Given the description of an element on the screen output the (x, y) to click on. 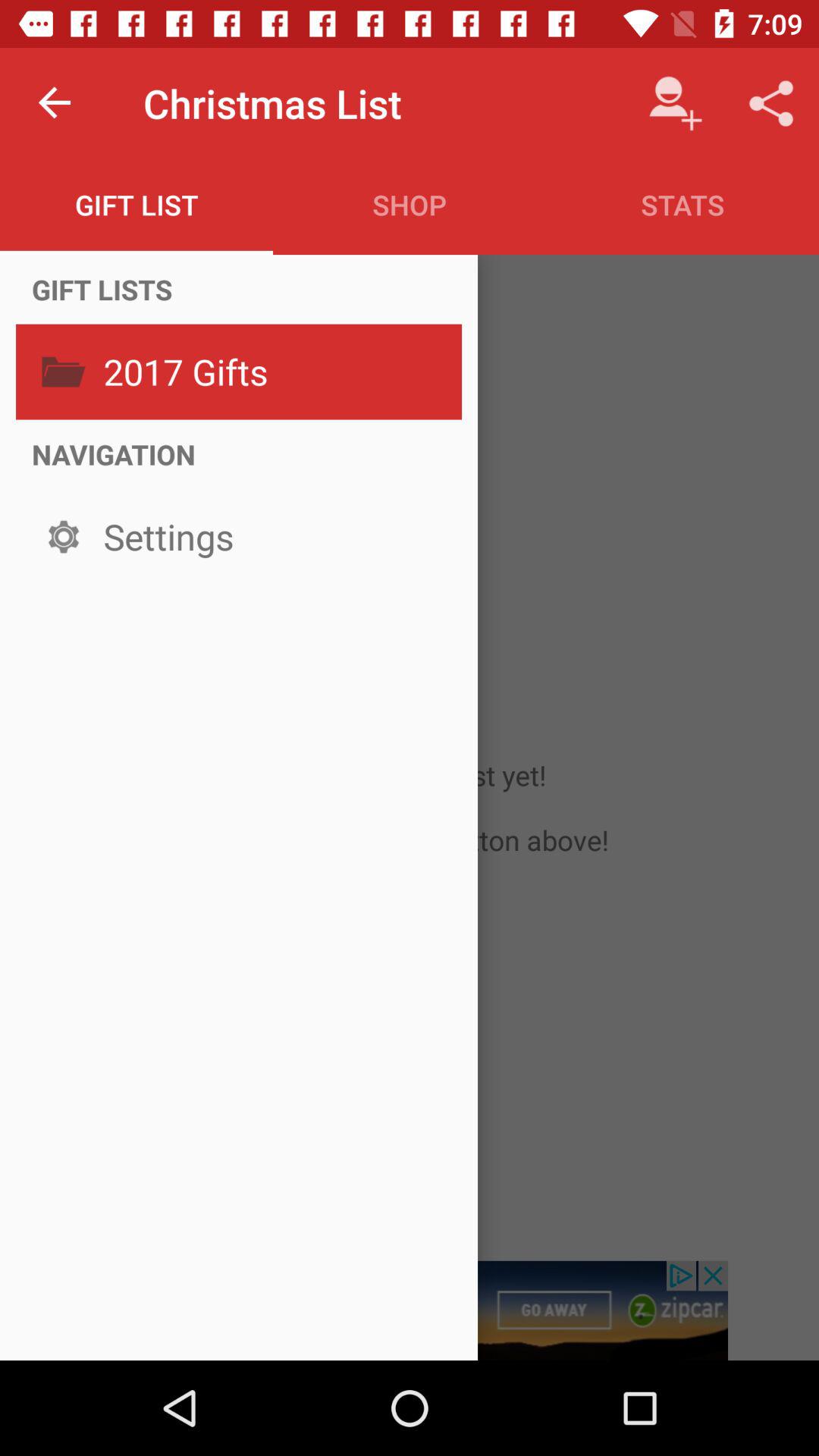
flip until the settings icon (278, 536)
